Given the description of an element on the screen output the (x, y) to click on. 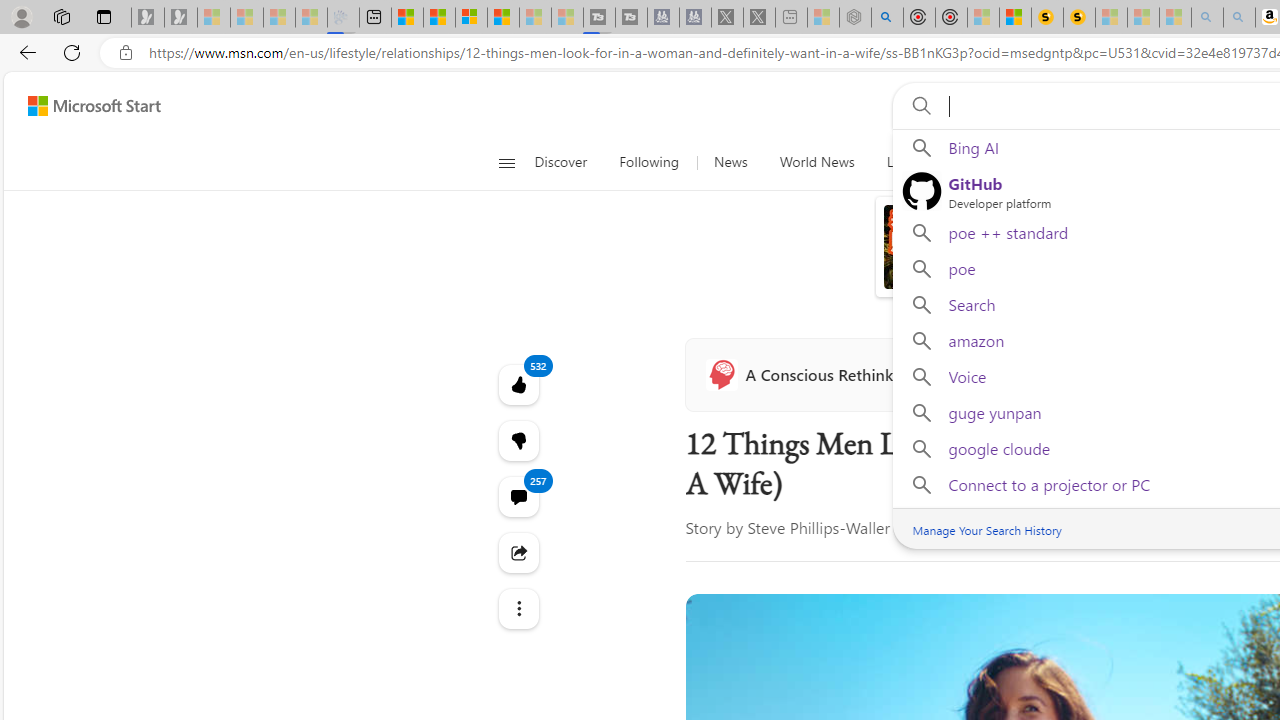
Local (902, 162)
Share this story (517, 552)
Follow (946, 374)
Overview (471, 17)
